Given the description of an element on the screen output the (x, y) to click on. 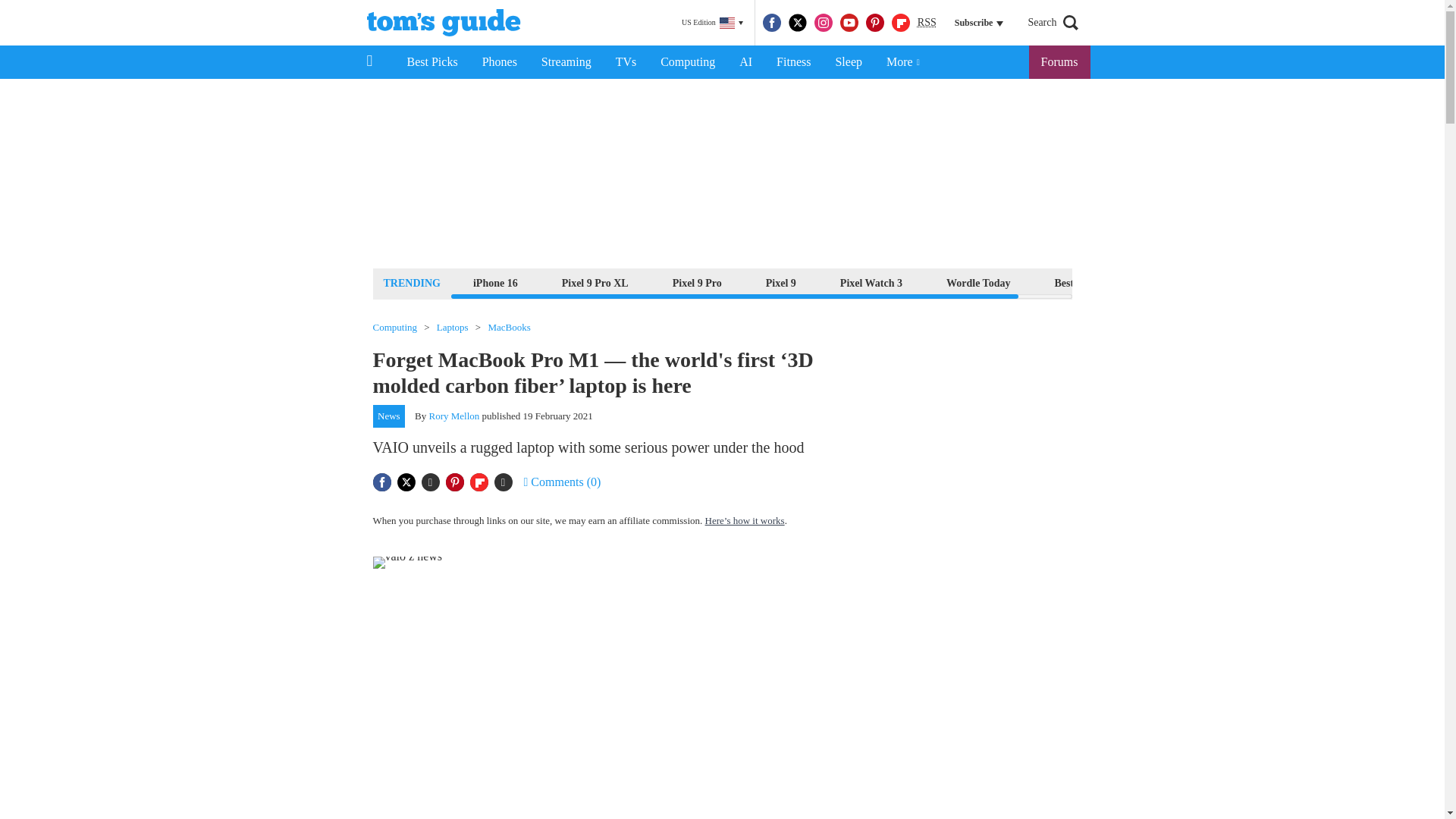
AI (745, 61)
TVs (626, 61)
Streaming (566, 61)
Sleep (848, 61)
Really Simple Syndication (926, 21)
Phones (499, 61)
RSS (926, 22)
Best Picks (431, 61)
Fitness (793, 61)
US Edition (712, 22)
